Given the description of an element on the screen output the (x, y) to click on. 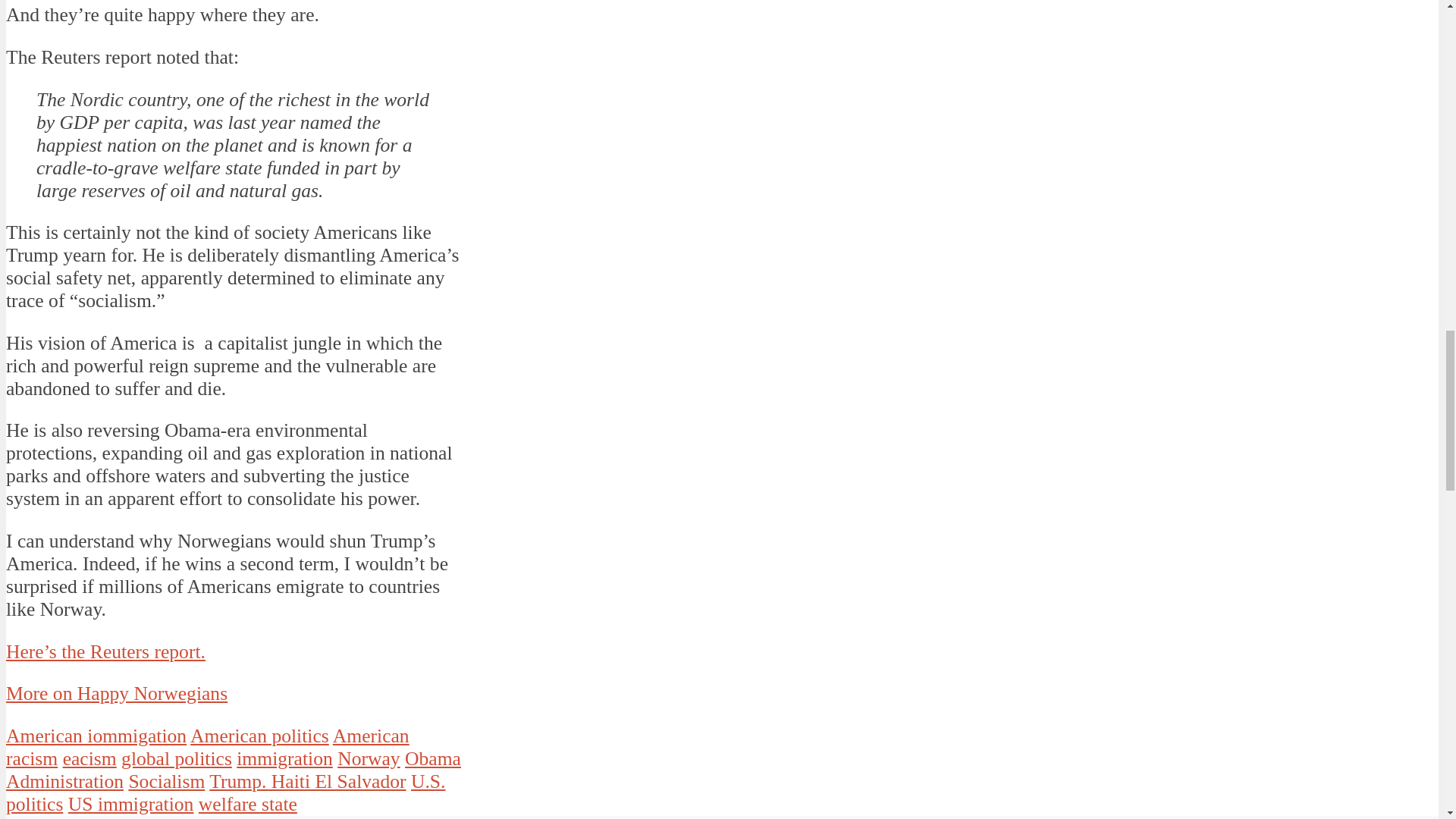
global politics (175, 758)
US immigration (130, 803)
immigration (284, 758)
Socialism (166, 781)
Obama Administration (233, 769)
Trump. Haiti El Salvador (307, 781)
eacism (89, 758)
More on Happy Norwegians (116, 693)
The Rise of Racism (88, 817)
American racism (207, 746)
